Given the description of an element on the screen output the (x, y) to click on. 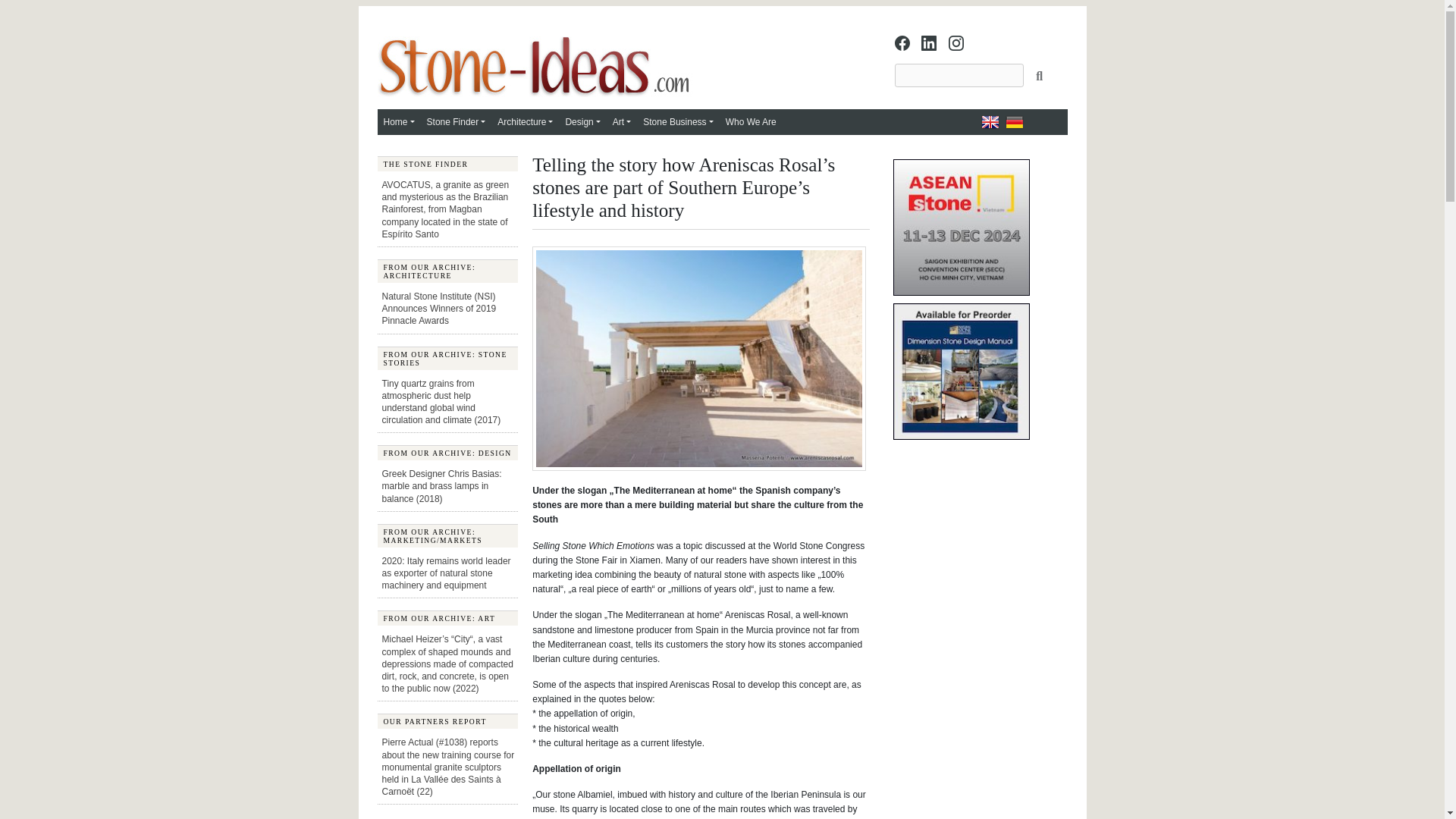
Design (582, 121)
FROM OUR ARCHIVE: ARCHITECTURE (447, 270)
FROM OUR ARCHIVE: STONE STORIES (447, 357)
Home (398, 121)
Who We Are (751, 121)
Art (622, 121)
Stone Business (678, 121)
Design (582, 121)
Stone Finder (456, 121)
Art (622, 121)
